Given the description of an element on the screen output the (x, y) to click on. 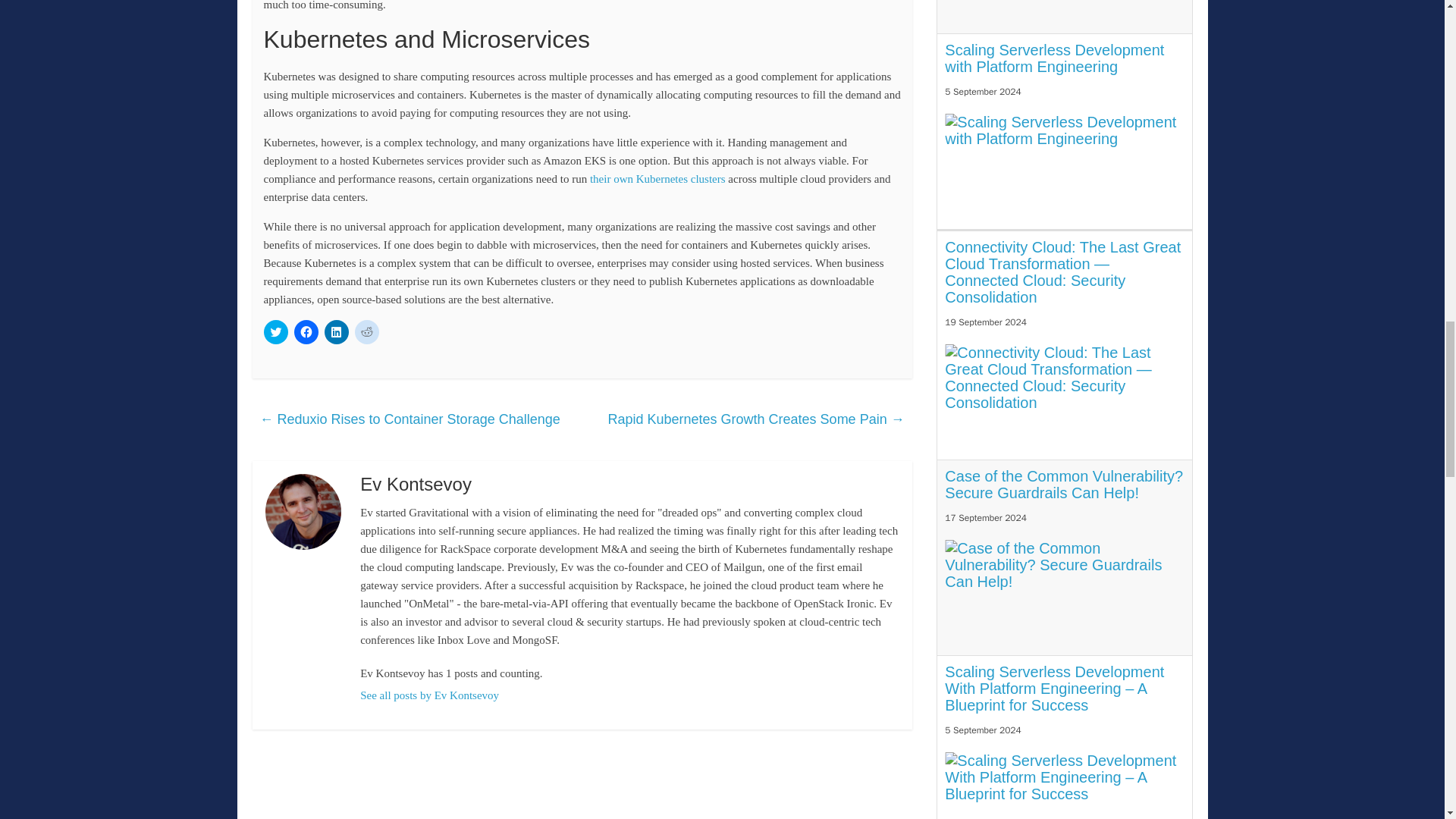
Click to share on Twitter (275, 331)
Click to share on Reddit (366, 331)
Click to share on LinkedIn (336, 331)
Click to share on Facebook (306, 331)
